Given the description of an element on the screen output the (x, y) to click on. 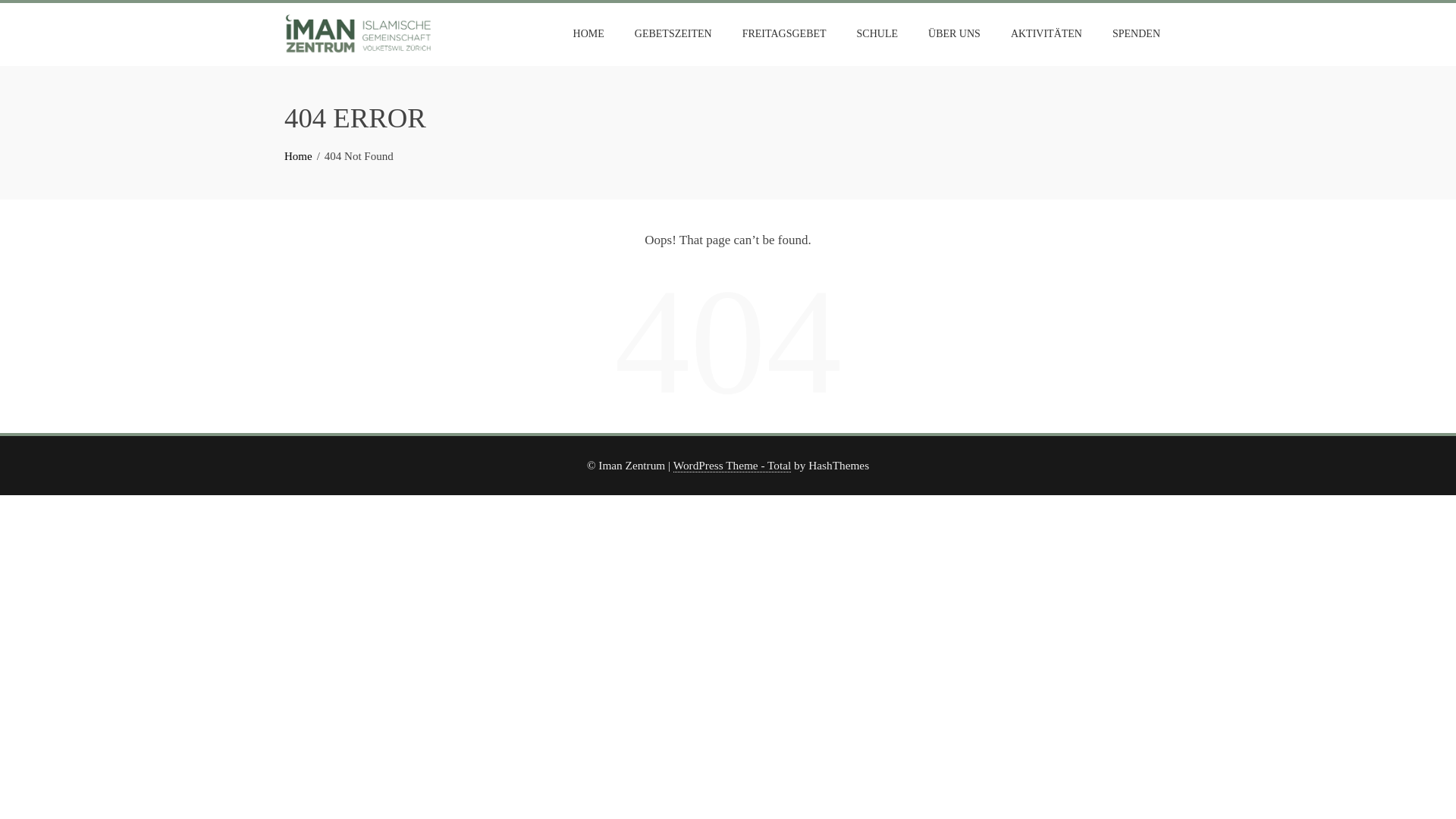
WordPress Theme - Total (732, 465)
Home (298, 155)
HOME (588, 33)
SPENDEN (1136, 33)
GEBETSZEITEN (673, 33)
FREITAGSGEBET (784, 33)
SCHULE (876, 33)
